Given the description of an element on the screen output the (x, y) to click on. 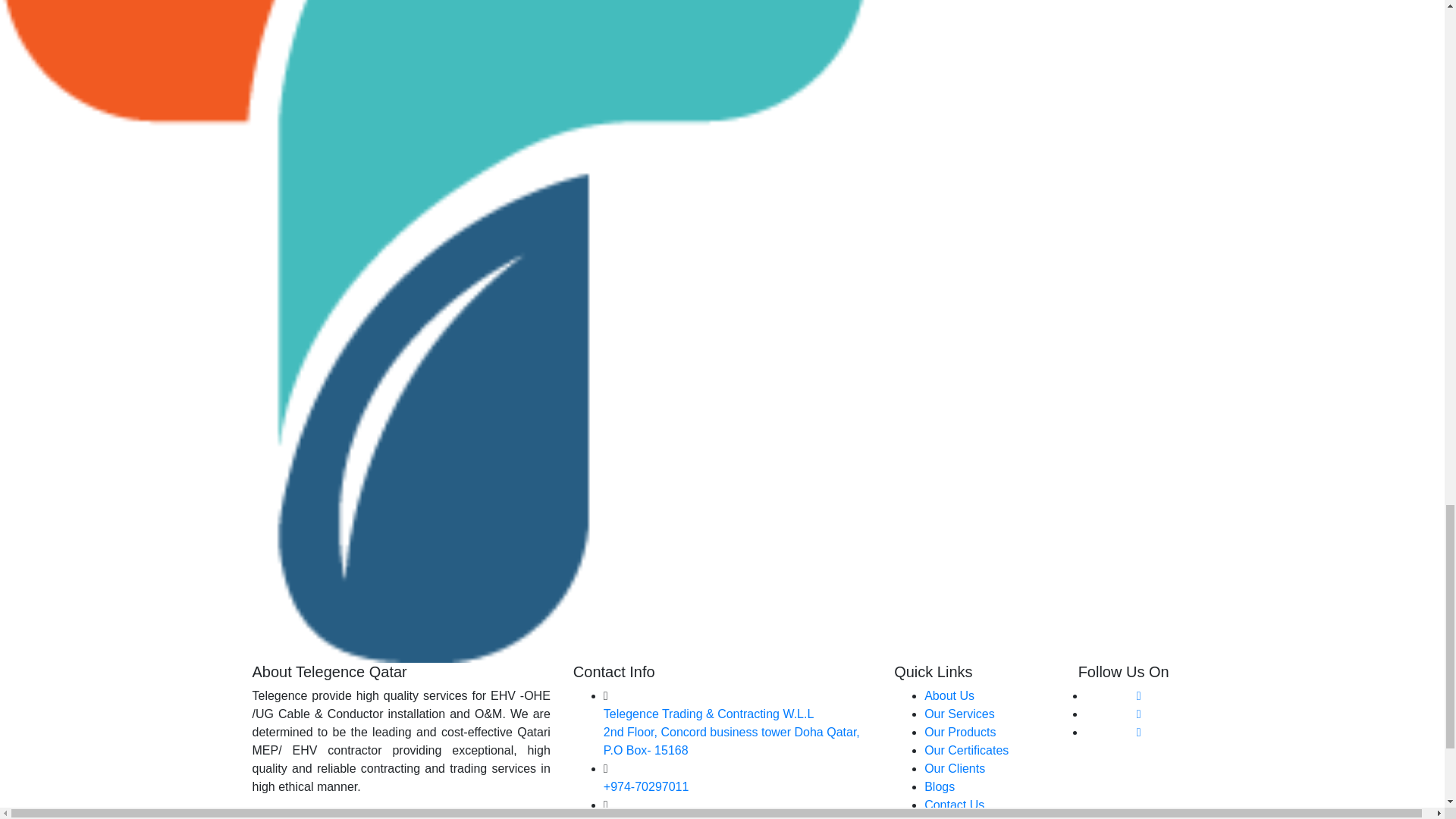
Blogs (939, 786)
Our Products (959, 731)
Our Certificates (966, 749)
Our Services (959, 713)
About Us (949, 695)
Our Clients (954, 768)
Contact Us (954, 804)
